Given the description of an element on the screen output the (x, y) to click on. 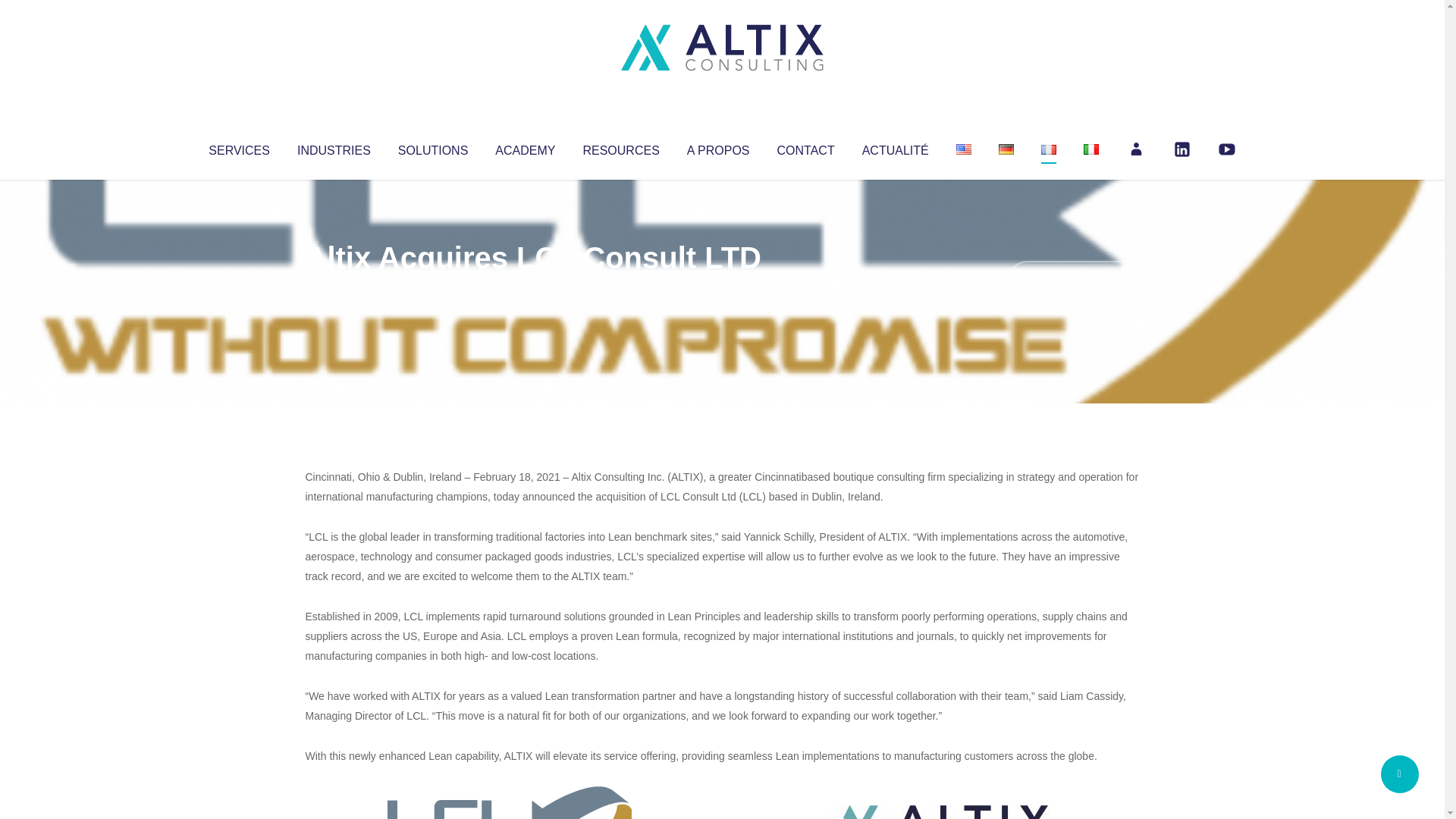
ACADEMY (524, 146)
RESOURCES (620, 146)
SERVICES (238, 146)
No Comments (1073, 278)
A PROPOS (718, 146)
SOLUTIONS (432, 146)
Altix (333, 287)
Uncategorized (530, 287)
Articles par Altix (333, 287)
INDUSTRIES (334, 146)
